Given the description of an element on the screen output the (x, y) to click on. 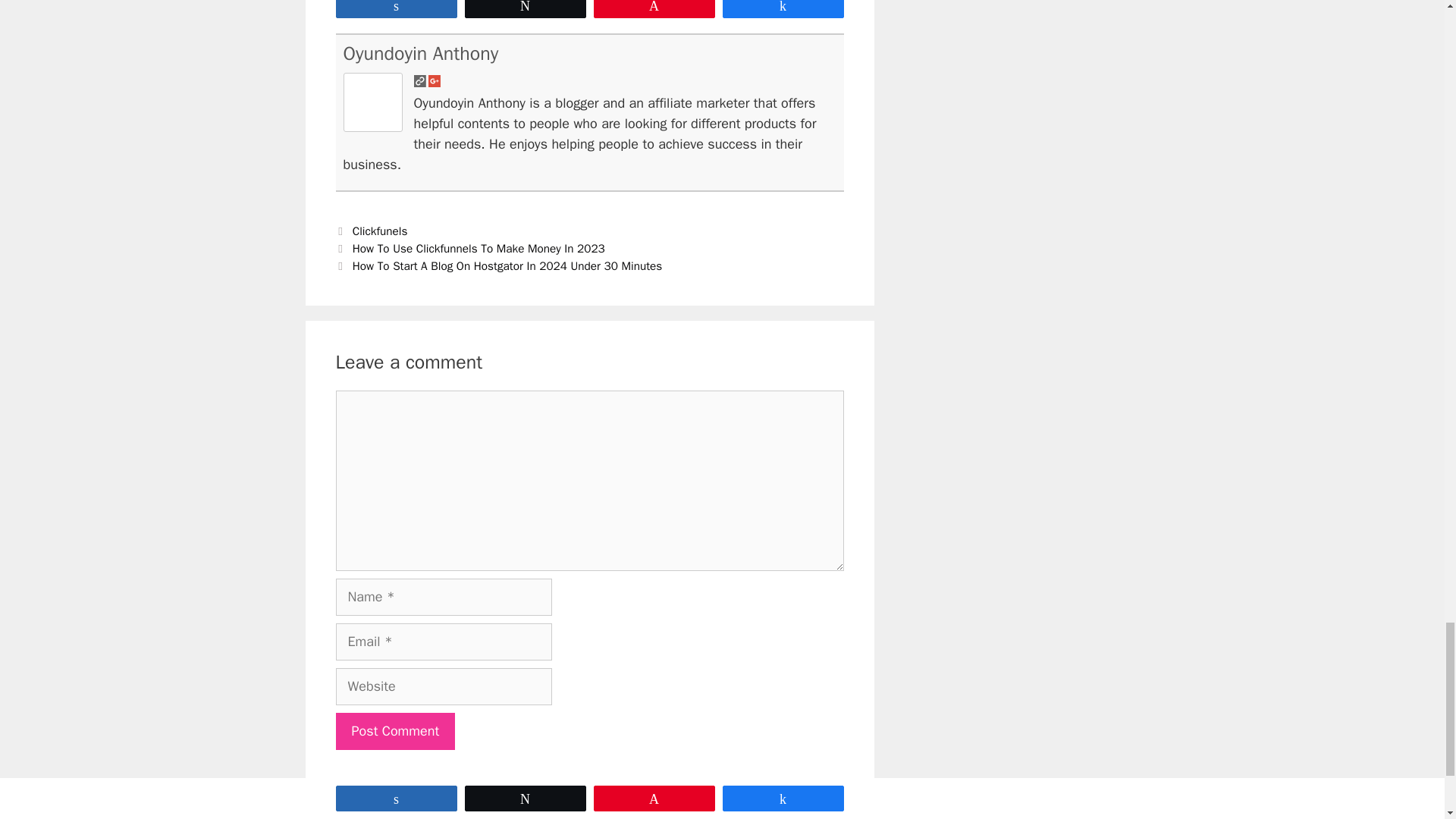
Oyundoyin Anthony (419, 53)
All posts by Oyundoyin Anthony (419, 53)
Post Comment (394, 731)
